Given the description of an element on the screen output the (x, y) to click on. 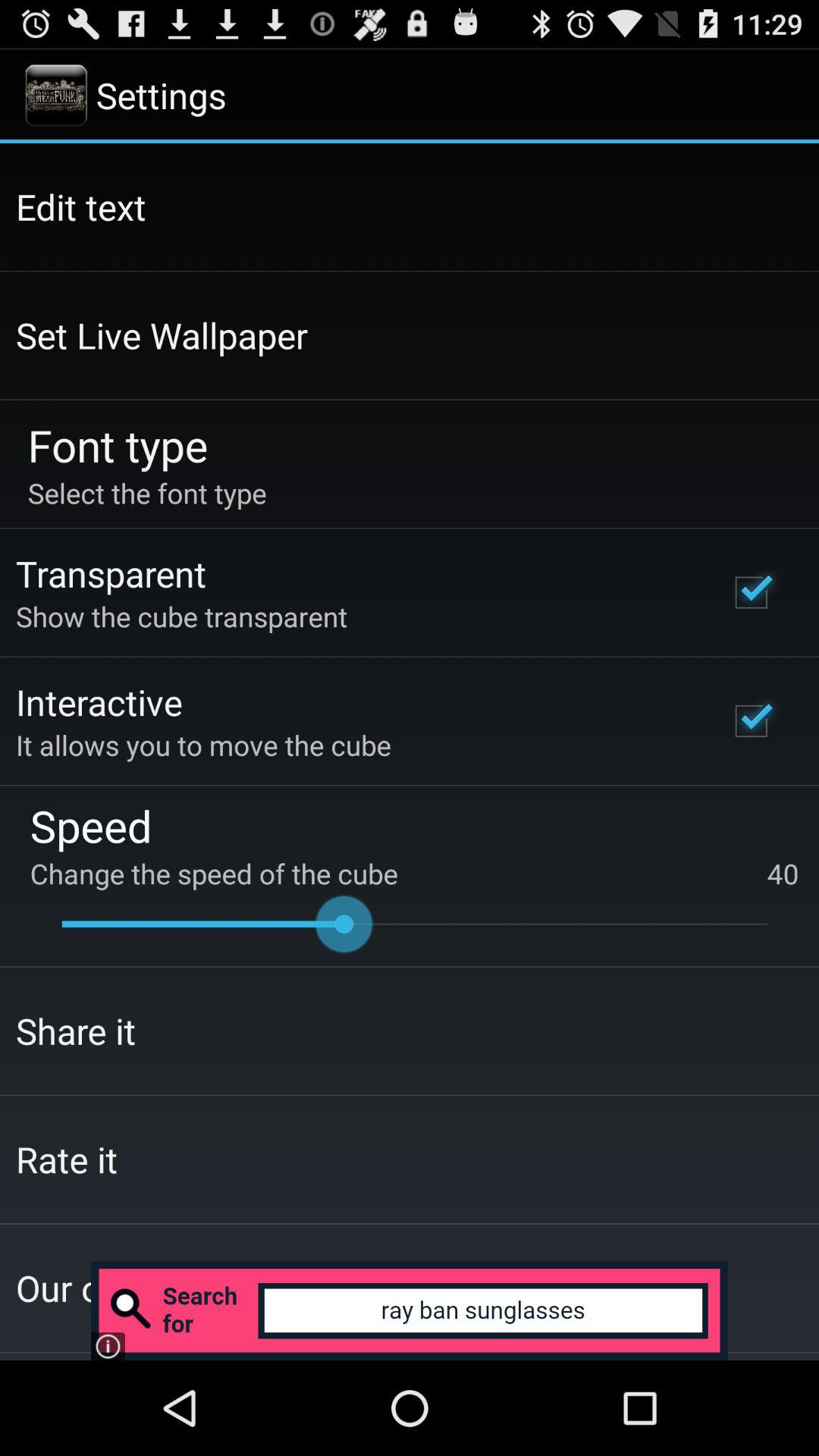
open the change the speed app (414, 873)
